Given the description of an element on the screen output the (x, y) to click on. 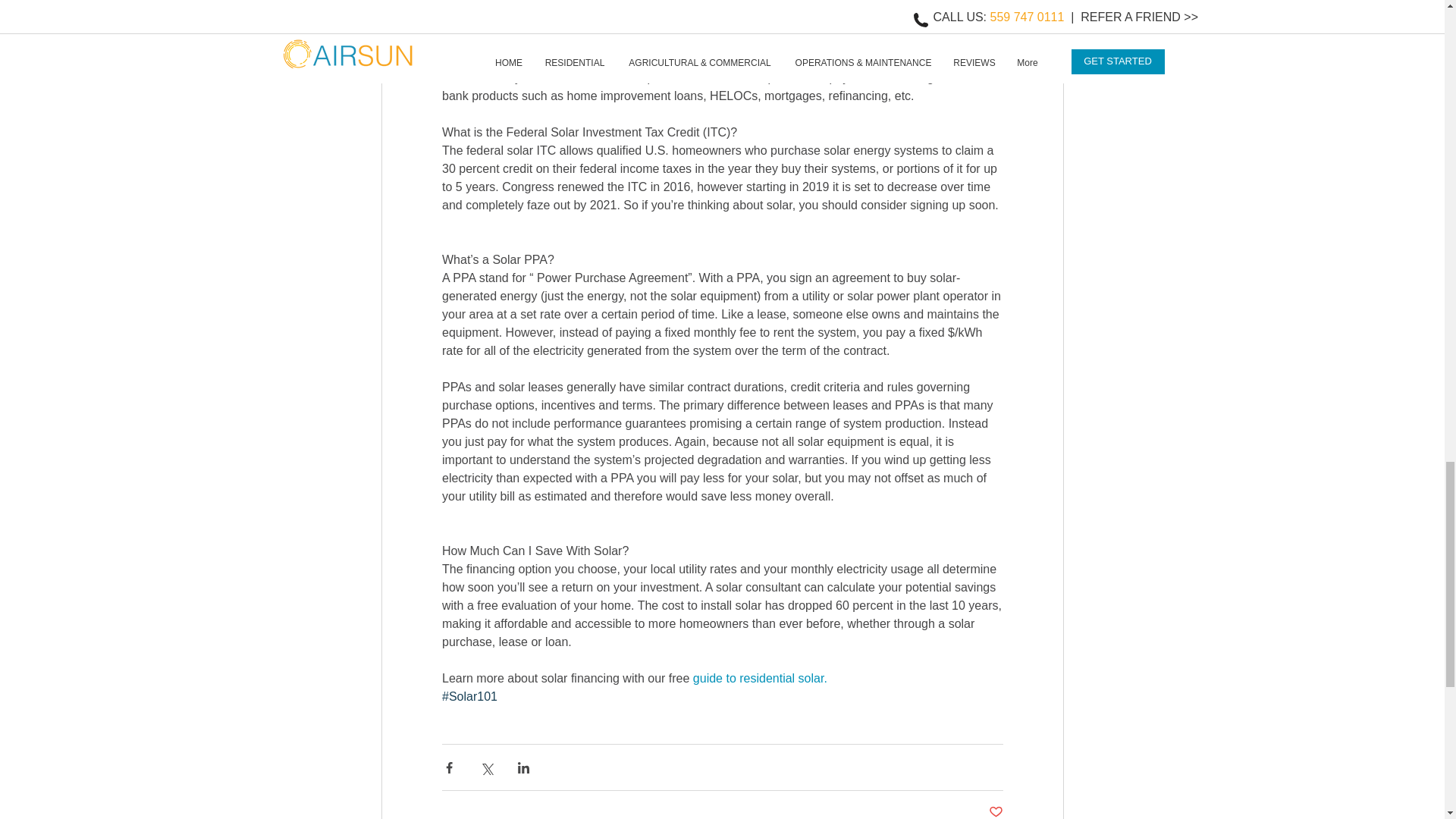
guide to residential solar. (760, 677)
SunPower Solar Warranty (721, 181)
Shining A Light on 5 Solar Myths (964, 184)
Post not marked as liked (995, 811)
